Given the description of an element on the screen output the (x, y) to click on. 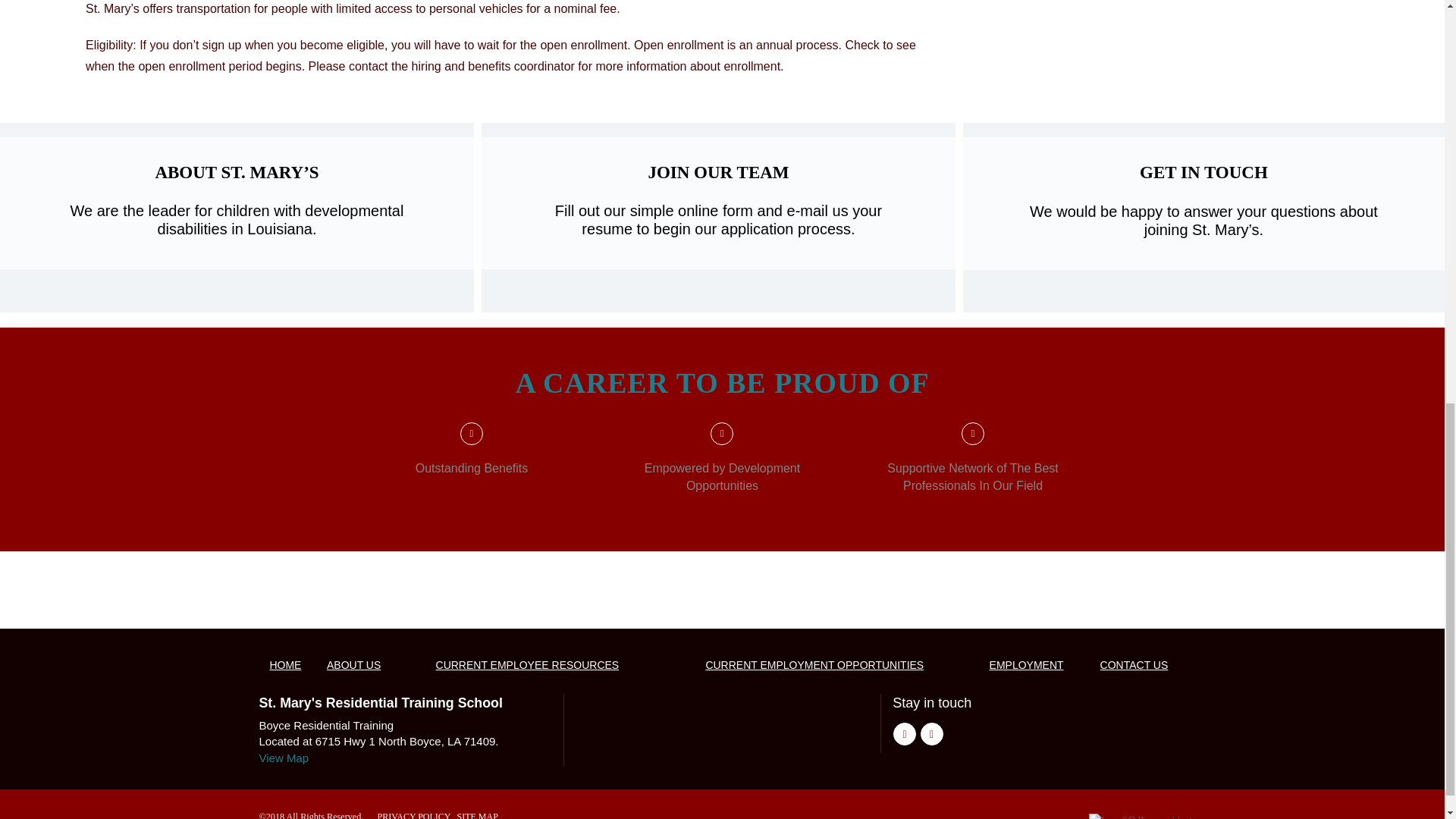
CONTACT US (1133, 665)
CURRENT EMPLOYEE RESOURCES (527, 665)
EMPLOYMENT (1027, 665)
ABOUT US (353, 665)
CURRENT EMPLOYMENT OPPORTUNITIES (815, 665)
View Map (283, 757)
SITE MAP (477, 815)
PRIVACY POLICY (413, 815)
HOME (286, 665)
